Given the description of an element on the screen output the (x, y) to click on. 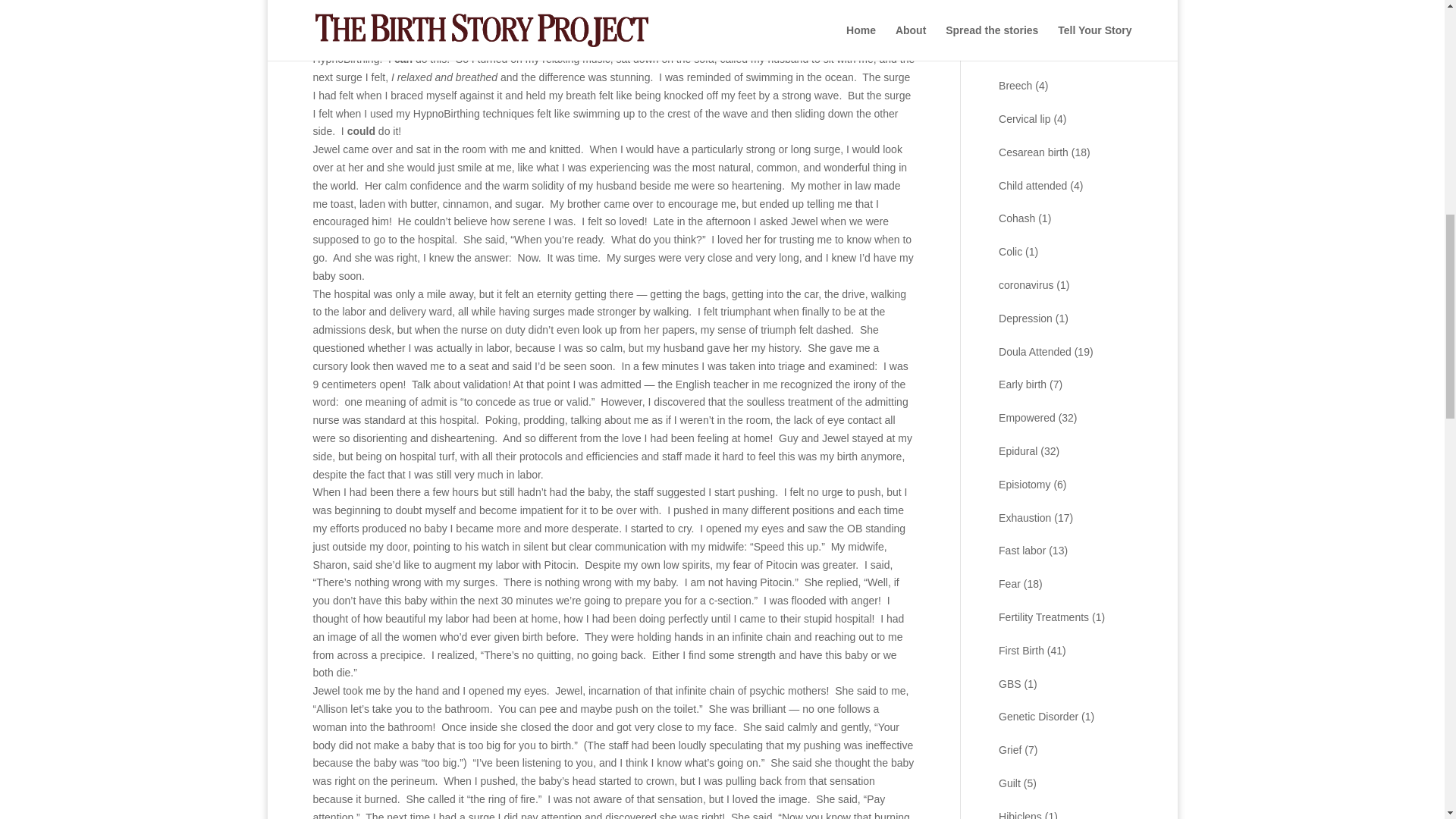
Early birth (1022, 384)
Cohash (1016, 218)
Colic (1010, 251)
Depression (1025, 318)
Epidural (1017, 451)
Cervical lip (1023, 119)
Cesarean birth (1033, 152)
Empowered (1026, 417)
Breast Pump (1028, 52)
Breast feeding (1032, 19)
Episiotomy (1023, 484)
Child attended (1032, 185)
coronavirus (1025, 285)
Breech (1015, 85)
Doula Attended (1034, 351)
